Given the description of an element on the screen output the (x, y) to click on. 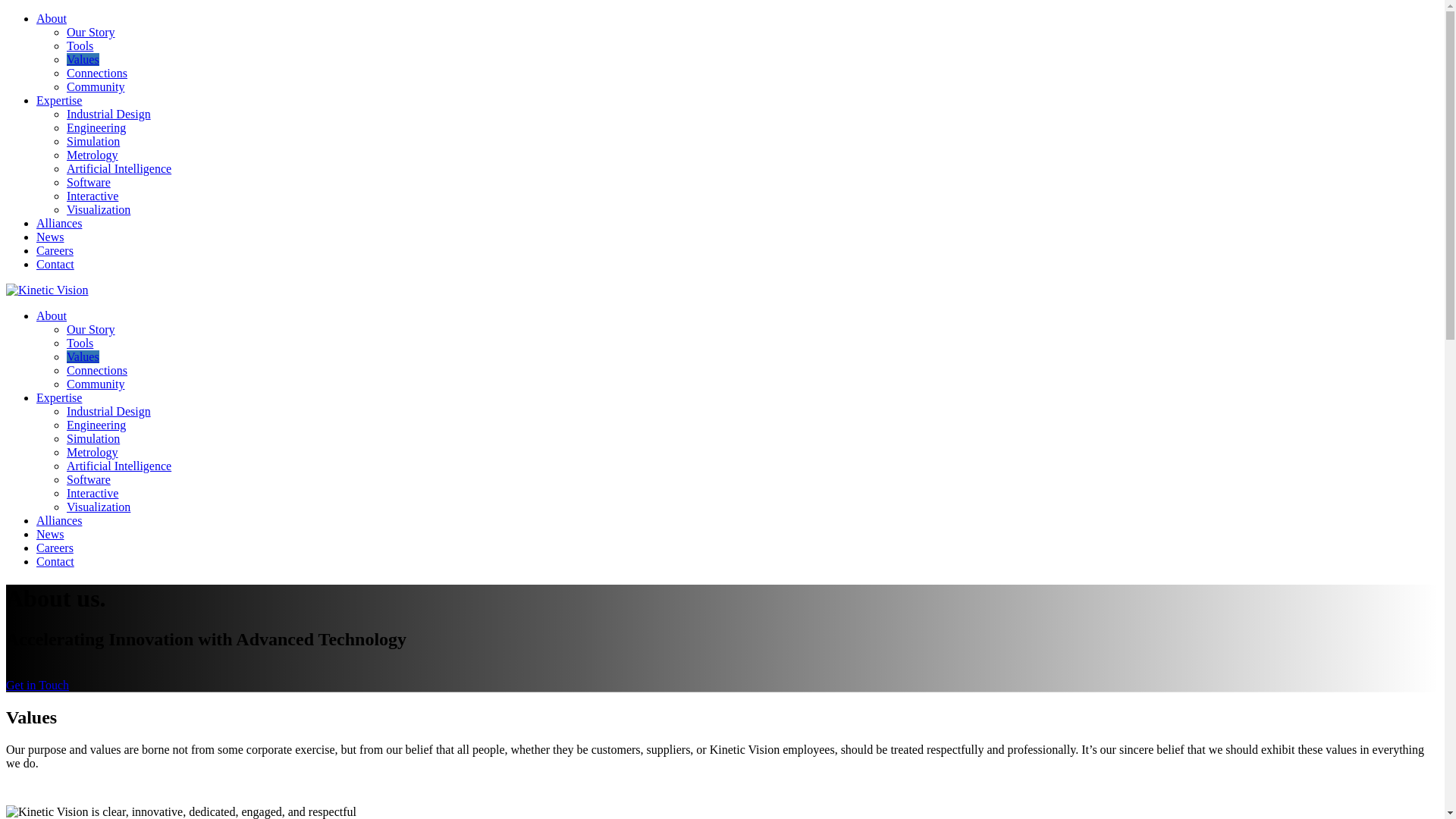
Values (82, 356)
Metrology (91, 154)
Community (94, 86)
Expertise (58, 100)
About (51, 18)
Connections (97, 369)
Simulation (92, 438)
Get in Touch (36, 684)
Our Story (90, 31)
Contact (55, 561)
